Given the description of an element on the screen output the (x, y) to click on. 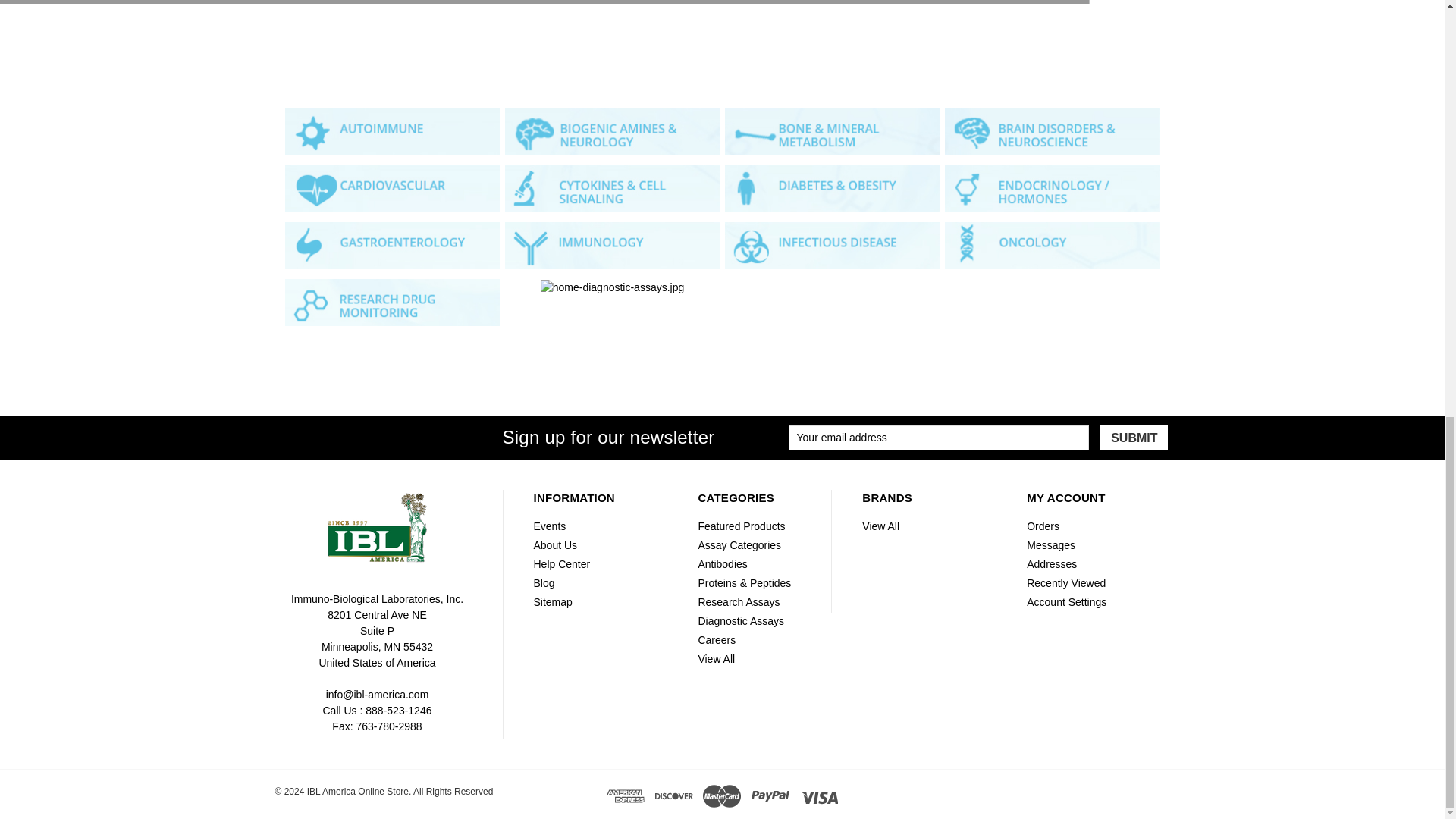
home-diagnostic-assays.jpg (612, 245)
home-diagnostic-assays.jpg (1052, 245)
home-diagnostic-assays.jpg (612, 287)
home-diagnostic-assays.jpg (832, 131)
Auto Immune Assay Kits (392, 131)
home-diagnostic-assays.jpg (1052, 131)
home-diagnostic-assays.jpg (832, 188)
home-diagnostic-assays.jpg (612, 188)
home-diagnostic-assays.jpg (612, 131)
home-diagnostic-assays.jpg (832, 245)
